Given the description of an element on the screen output the (x, y) to click on. 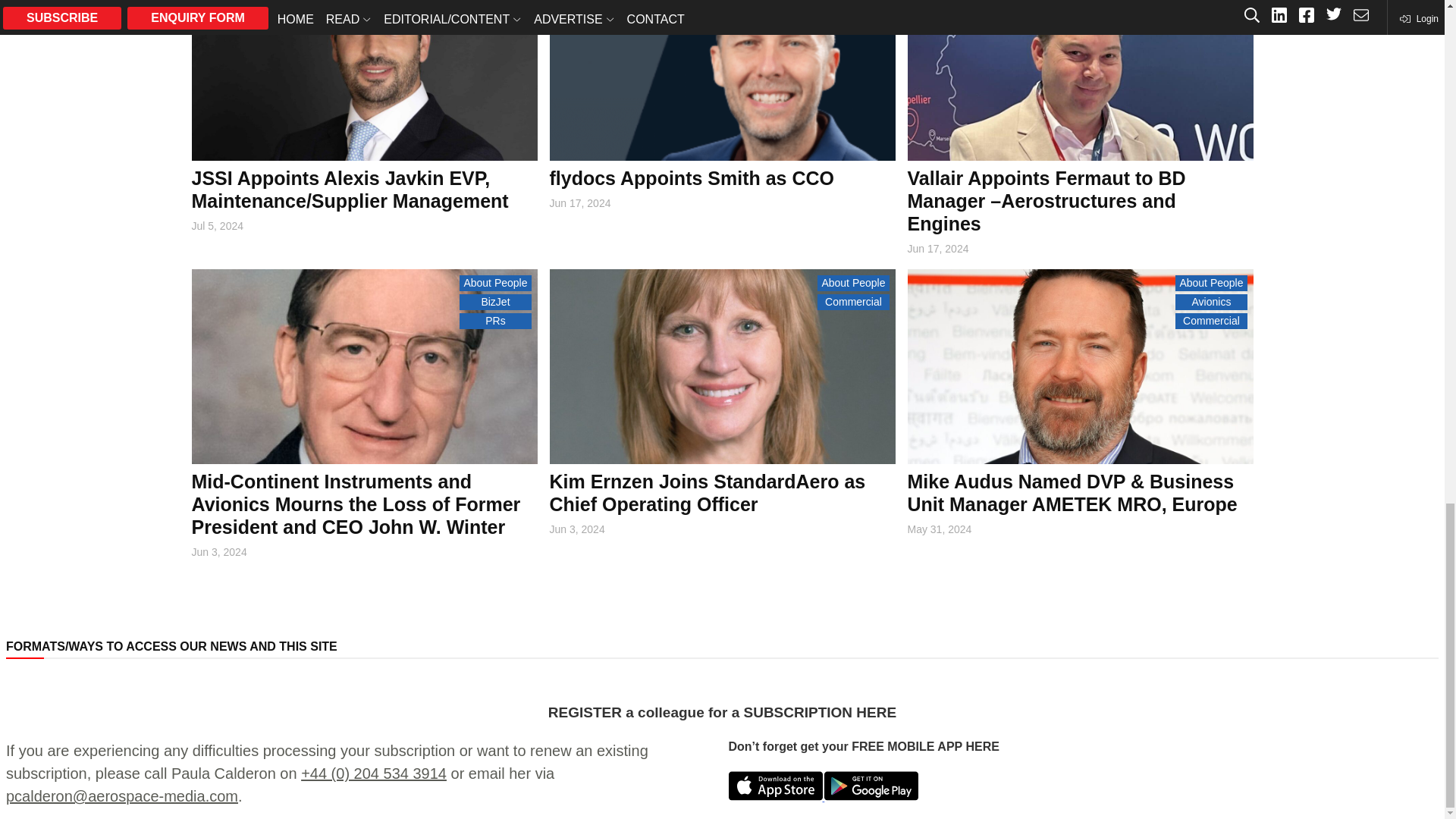
BizJet (495, 3)
